Given the description of an element on the screen output the (x, y) to click on. 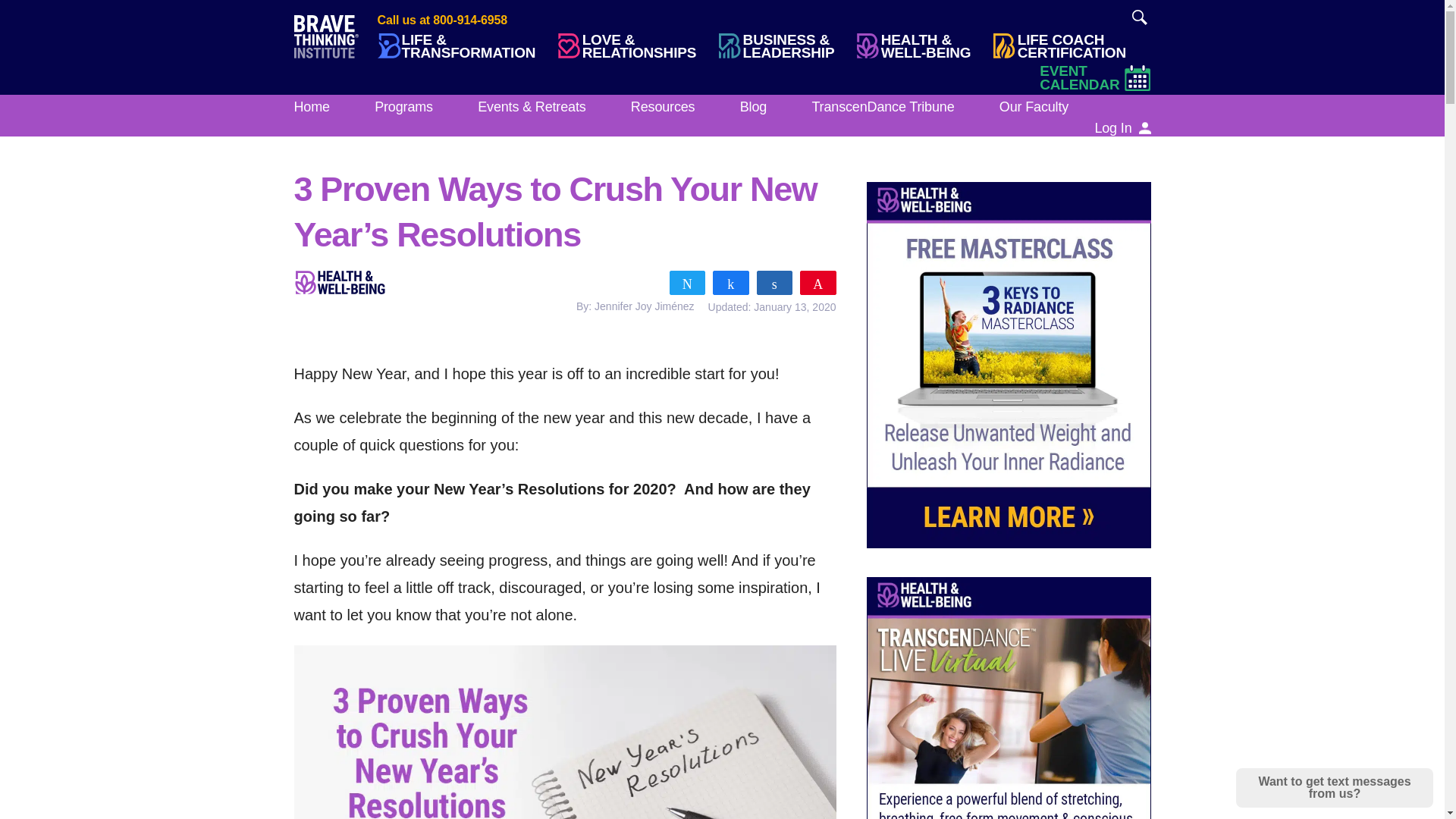
Search (1139, 17)
Search (1139, 17)
Search (1068, 45)
Call us at 800-914-6958 (1139, 17)
